Given the description of an element on the screen output the (x, y) to click on. 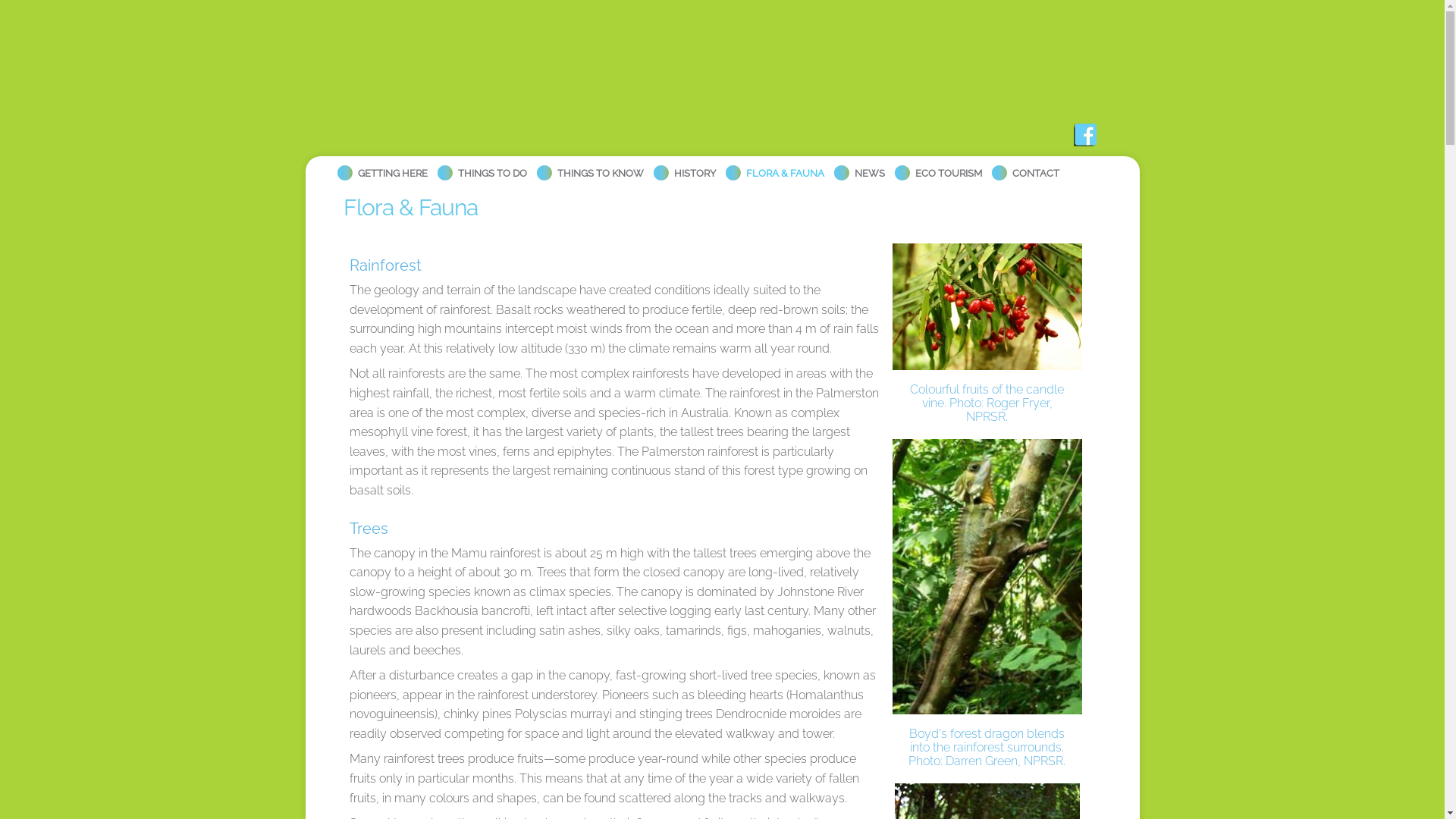
THINGS TO DO Element type: text (480, 163)
NEWS Element type: text (858, 163)
FLORA & FAUNA Element type: text (772, 163)
CONTACT Element type: text (1024, 163)
MAMU Element type: text (475, 107)
HISTORY Element type: text (683, 163)
THINGS TO KNOW Element type: text (588, 163)
GETTING HERE Element type: text (380, 163)
ECO TOURISM Element type: text (936, 163)
